Given the description of an element on the screen output the (x, y) to click on. 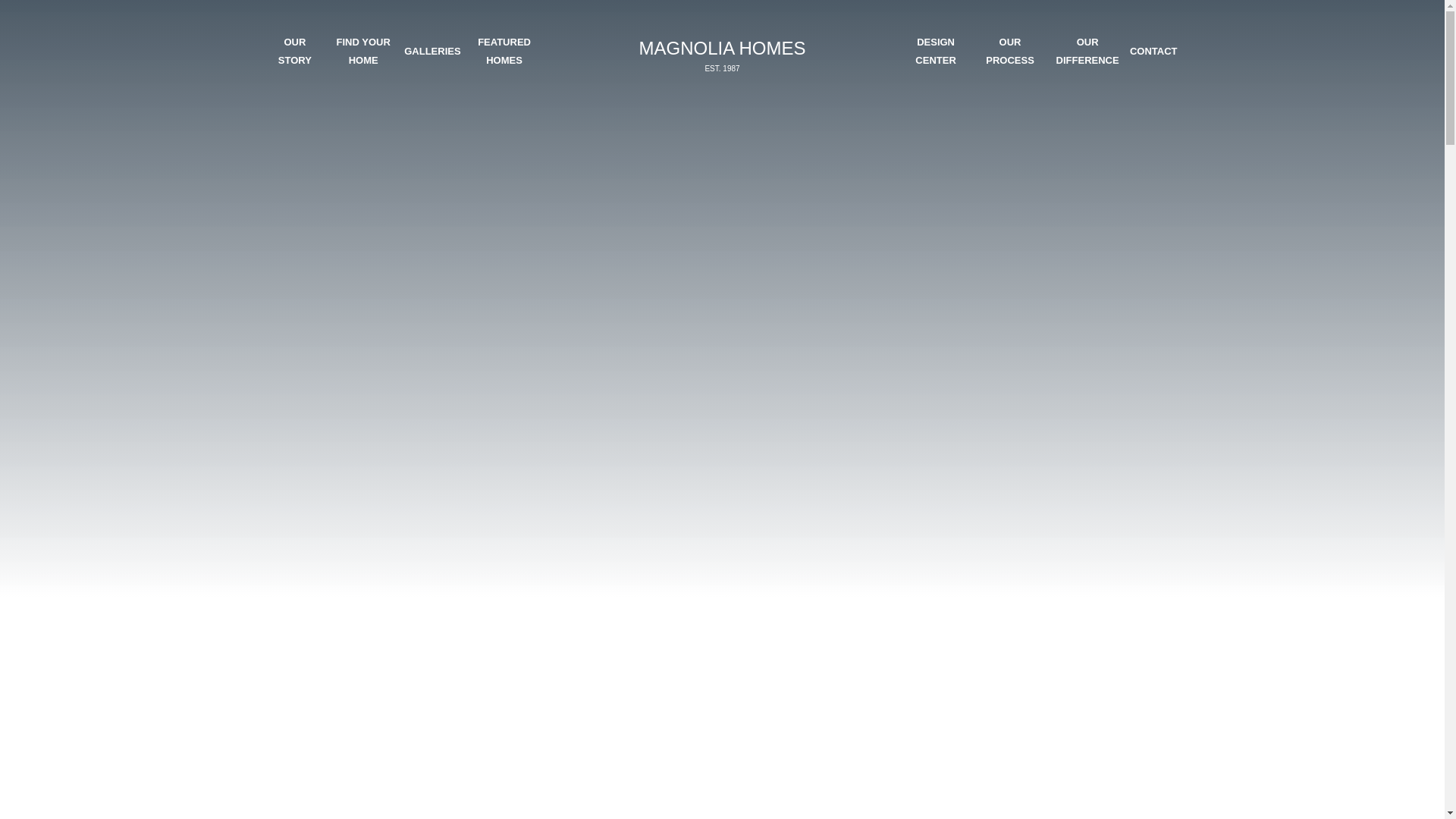
FIND YOUR HOME (363, 51)
OUR STORY (294, 51)
DESIGN CENTER (935, 51)
OUR DIFFERENCE (1088, 51)
GALLERIES (721, 54)
FEATURED HOMES (432, 50)
CONTACT (504, 51)
OUR PROCESS (1153, 50)
